Given the description of an element on the screen output the (x, y) to click on. 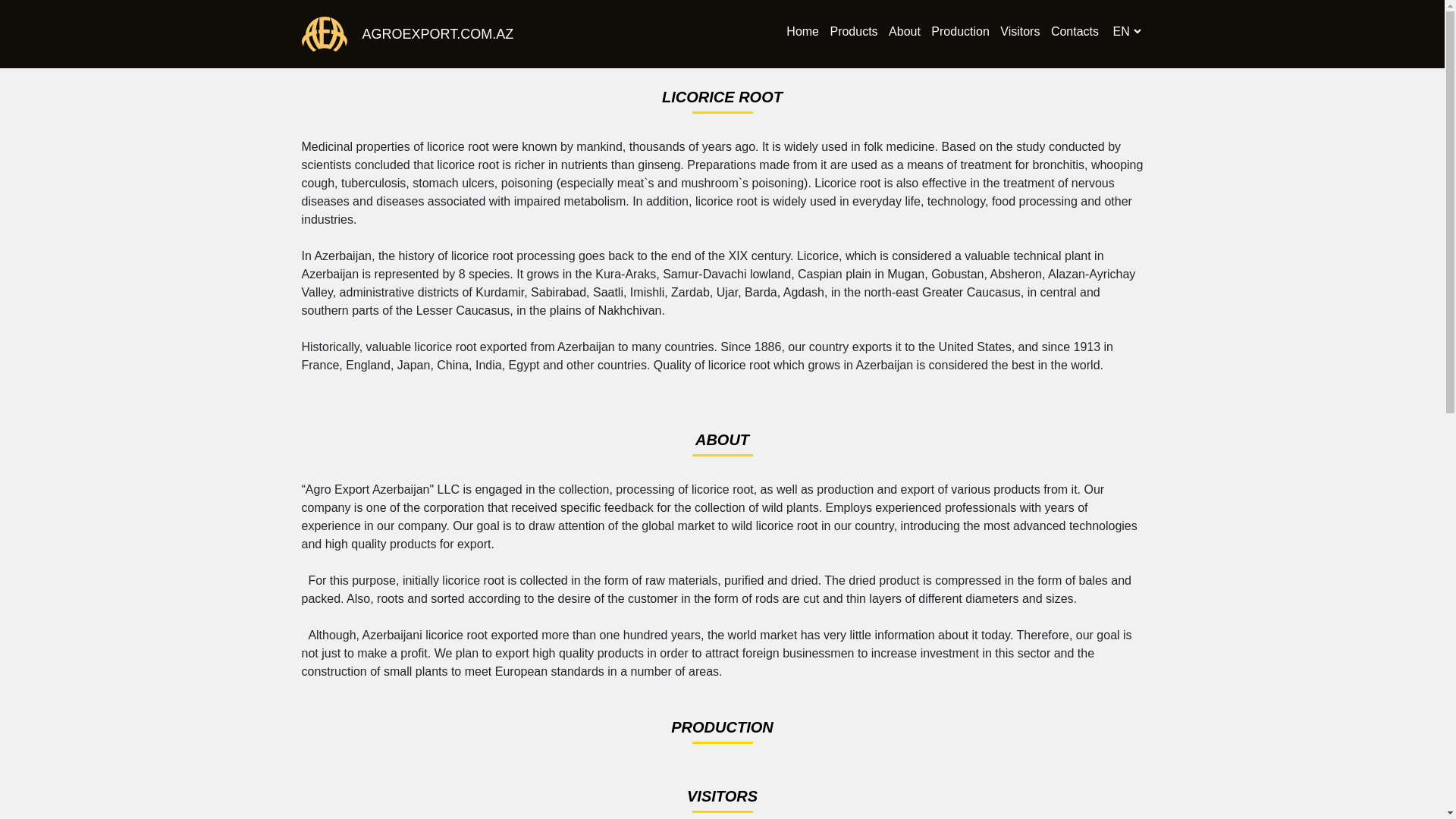
About Element type: text (904, 32)
Home Element type: text (802, 32)
Production Element type: text (960, 32)
Visitors Element type: text (1019, 32)
AGROEXPORT.COM.AZ Element type: text (430, 34)
Contacts Element type: text (1074, 32)
Products Element type: text (853, 32)
